Given the description of an element on the screen output the (x, y) to click on. 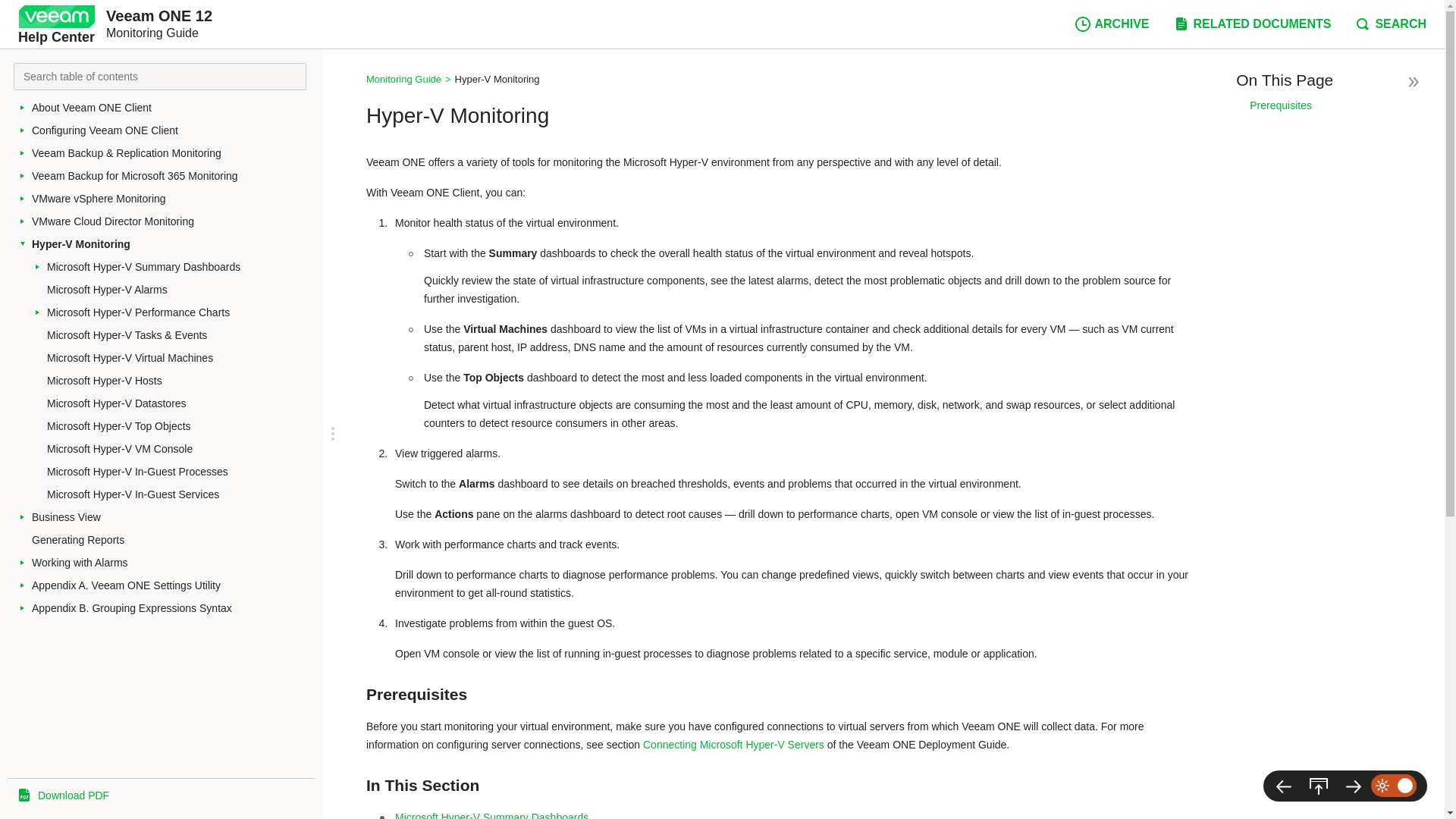
ARCHIVE (1112, 24)
SEARCH (1390, 24)
Configuring Veeam ONE Client (173, 129)
RELATED DOCUMENTS (1252, 24)
About Veeam ONE Client (173, 107)
About Veeam ONE Client (173, 107)
Configuring Veeam ONE Client (173, 129)
Help Center (55, 23)
